Given the description of an element on the screen output the (x, y) to click on. 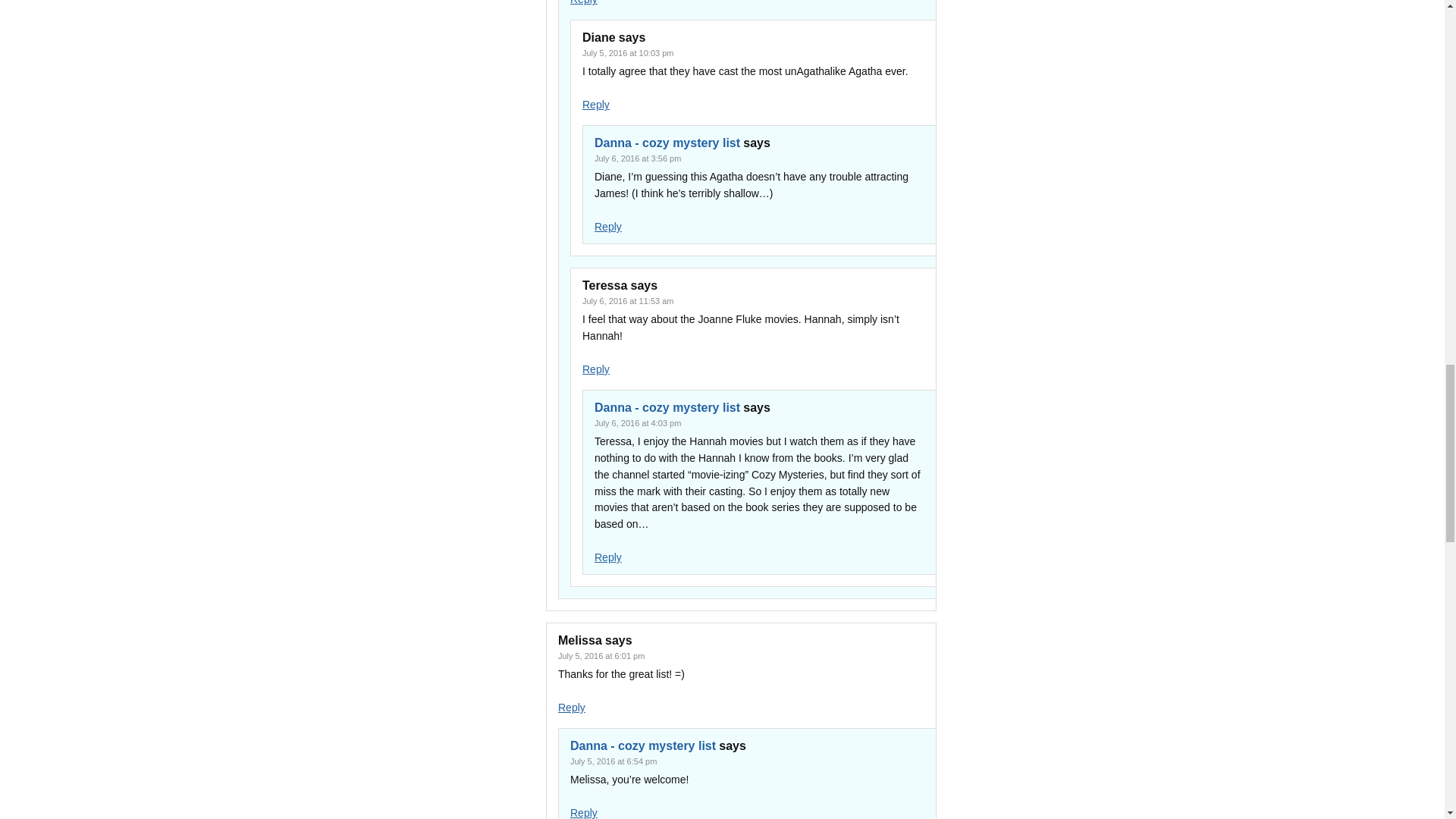
Reply (607, 226)
Danna - cozy mystery list (666, 142)
July 6, 2016 at 3:56 pm (637, 157)
Reply (607, 557)
Danna - cozy mystery list (643, 745)
Reply (583, 2)
July 6, 2016 at 11:53 am (627, 300)
July 6, 2016 at 4:03 pm (637, 422)
Reply (571, 707)
July 5, 2016 at 10:03 pm (627, 52)
